Given the description of an element on the screen output the (x, y) to click on. 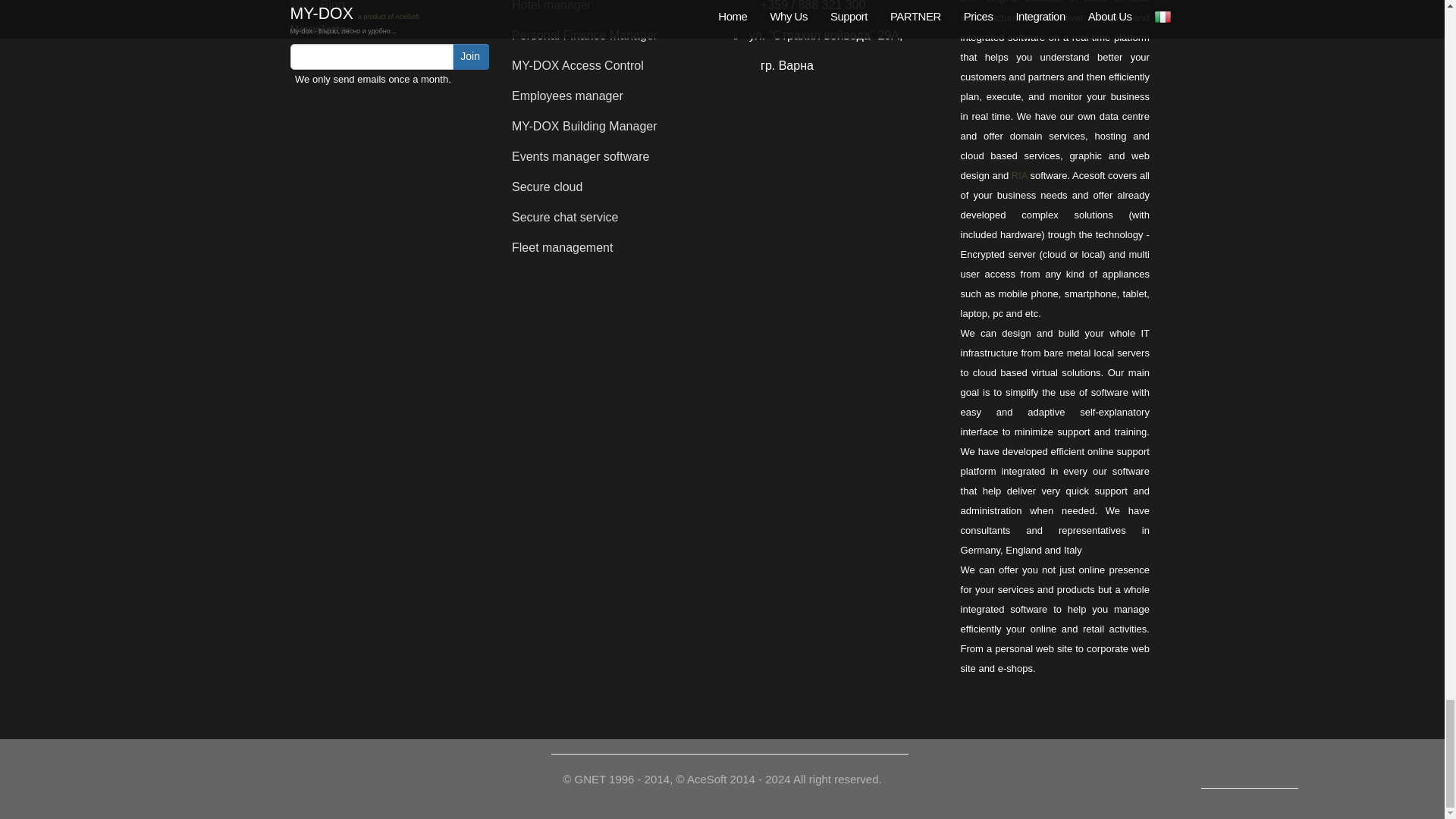
Employees manager (567, 95)
MY-Dox - Employees manager (567, 95)
My-Dox Fleet management (562, 246)
MY-Dox - Secure Cloud (547, 186)
MY-DOX Access Control (577, 65)
MY-Dox - MY-DOX Access Control (577, 65)
MY-Dox - Events manager (580, 155)
MY-Dox - MY-DOX Building Manager (585, 125)
RIA (1019, 174)
Join (470, 56)
MY-DOX Building Manager (585, 125)
Personal Finance Manager (585, 34)
Hotel manager (551, 5)
MY-Dox - Secure Chat (565, 216)
Fleet management (562, 246)
